Given the description of an element on the screen output the (x, y) to click on. 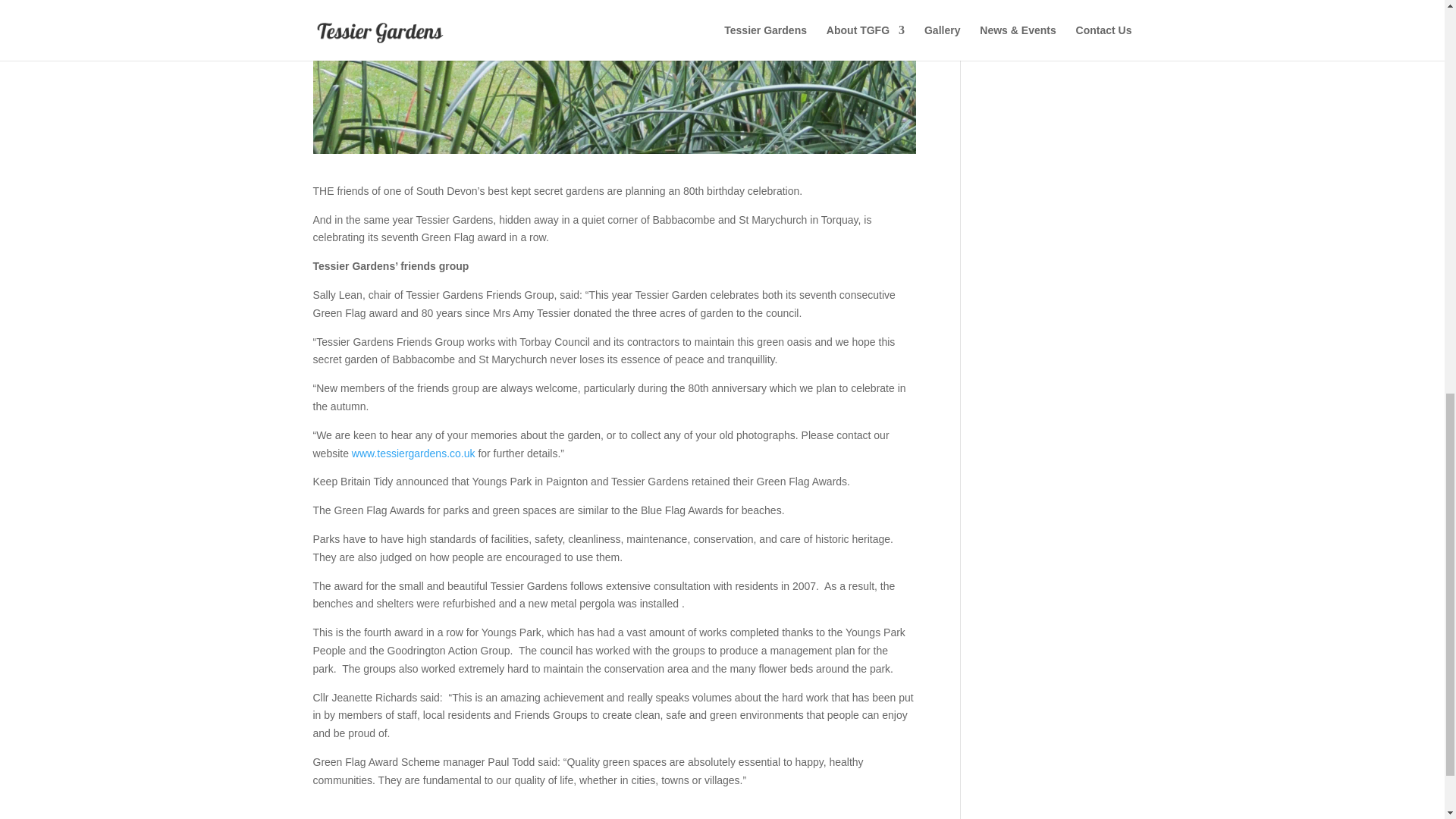
www.tessiergardens.co.uk (414, 453)
